Given the description of an element on the screen output the (x, y) to click on. 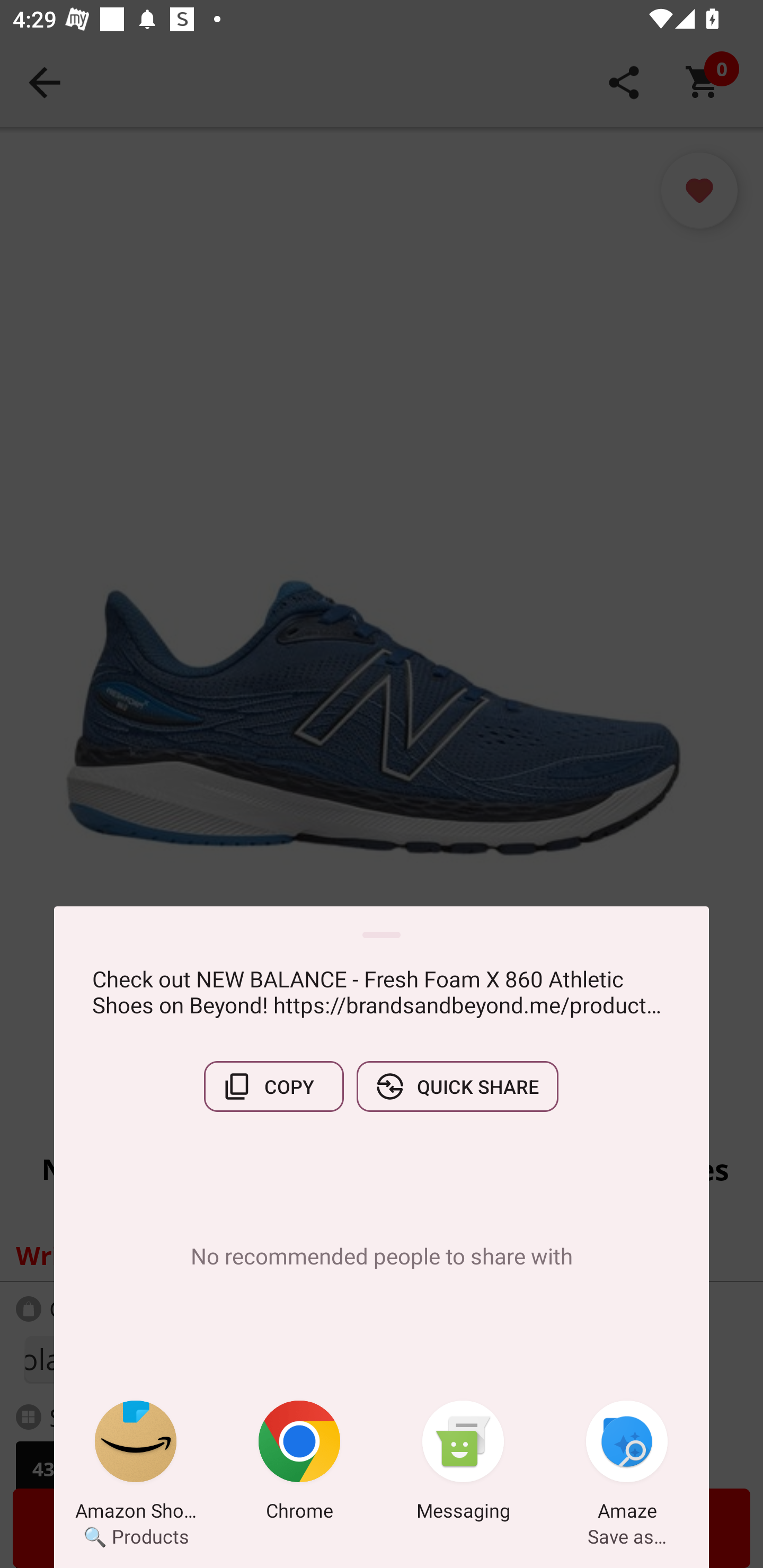
COPY (273, 1086)
QUICK SHARE (457, 1086)
Amazon Shopping 🔍 Products (135, 1463)
Chrome (299, 1463)
Messaging (463, 1463)
Amaze Save as… (626, 1463)
